Given the description of an element on the screen output the (x, y) to click on. 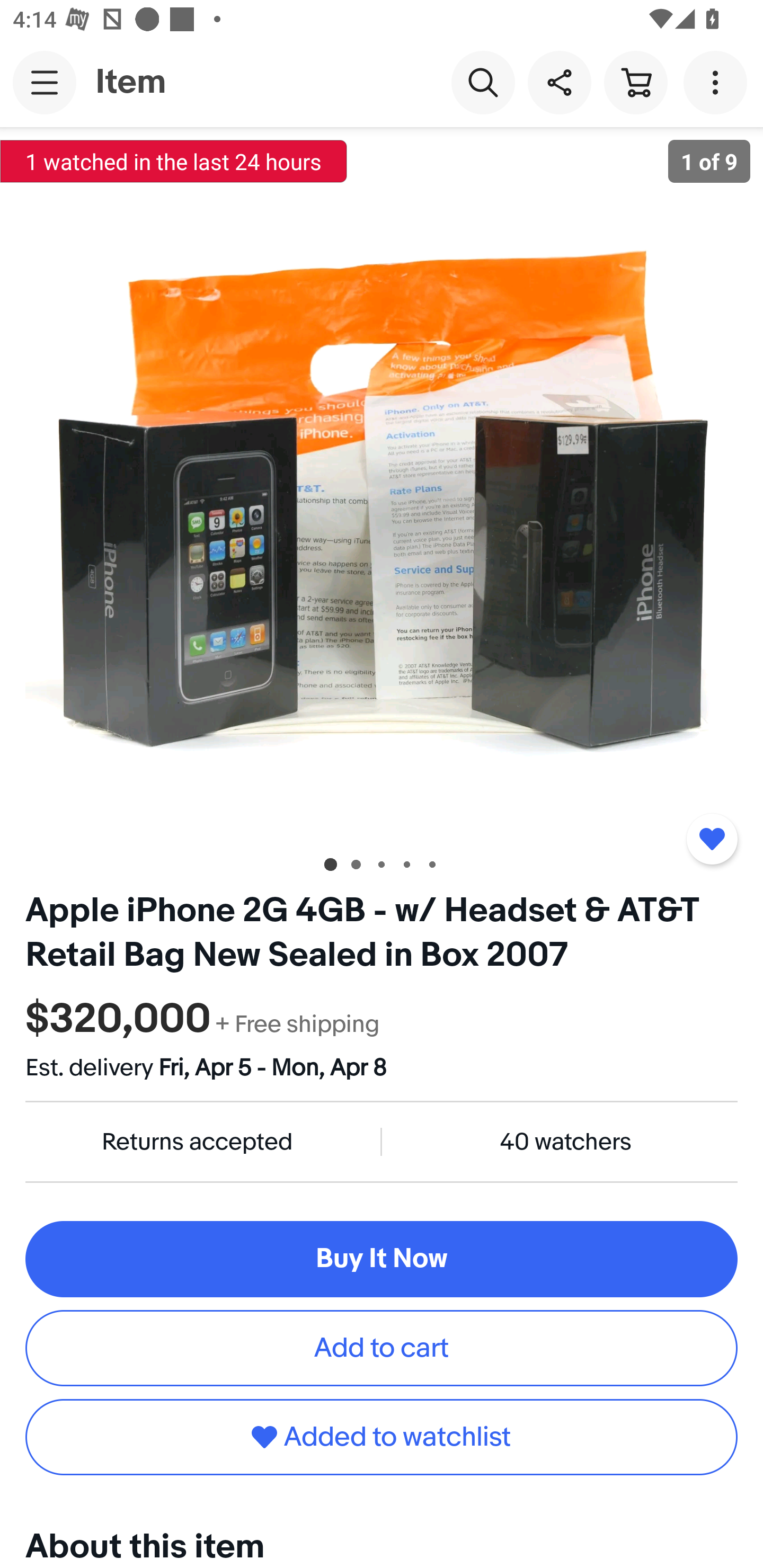
Main navigation, open (44, 82)
Search (482, 81)
Share this item (559, 81)
Cart button shopping cart (635, 81)
More options (718, 81)
Item image 1 of 9 (381, 482)
1 watched in the last 24 hours (173, 161)
Added to watchlist (711, 838)
Buy It Now (381, 1258)
Add to cart (381, 1347)
Added to watchlist (381, 1436)
